Given the description of an element on the screen output the (x, y) to click on. 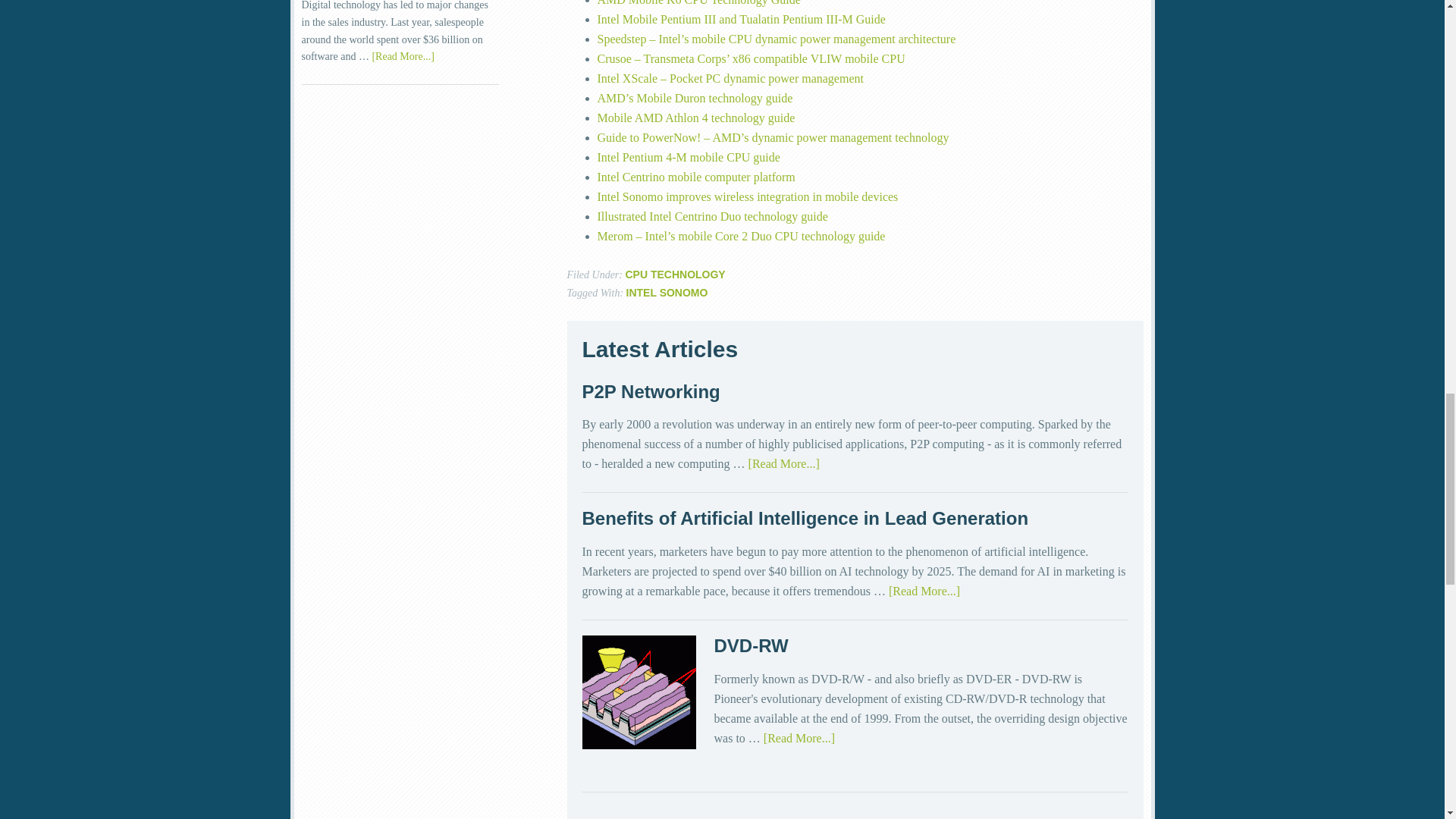
INTEL SONOMO (666, 292)
Intel Centrino mobile computer platform (695, 176)
Illustrated Intel Centrino Duo technology guide (712, 215)
DVD-RW (751, 645)
AMD Mobile K6 CPU Technology Guide (698, 2)
Mobile AMD Athlon 4 technology guide (695, 117)
Intel Pentium 4-M mobile CPU guide (688, 156)
P2P Networking (651, 390)
Benefits of Artificial Intelligence in Lead Generation (805, 517)
Intel Sonomo improves wireless integration in mobile devices (747, 196)
